Given the description of an element on the screen output the (x, y) to click on. 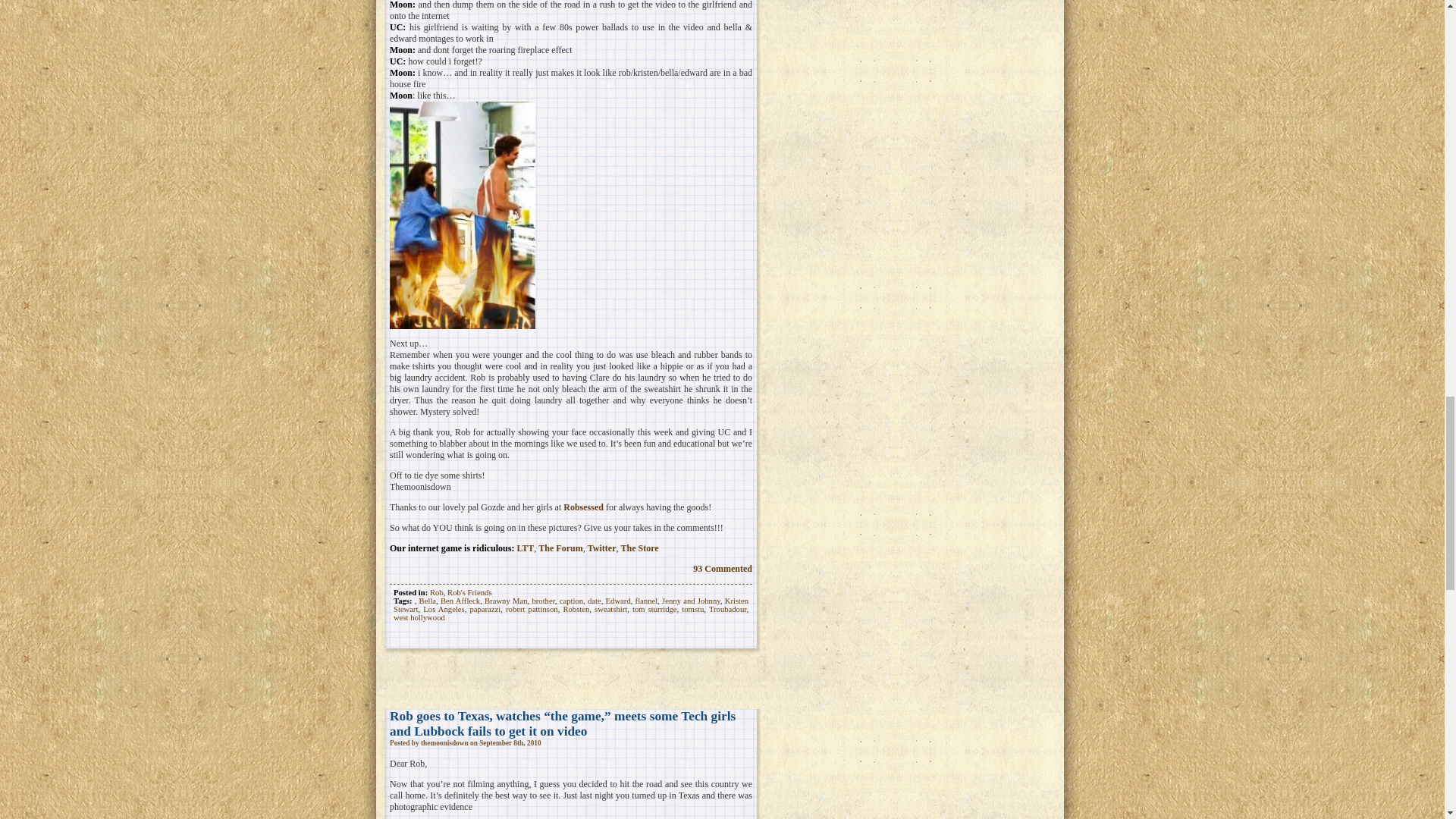
The Forum (560, 547)
LTT (525, 547)
Rob's Friends (469, 592)
93 Commented (722, 568)
Twitter (601, 547)
Robsessed (583, 507)
brother (542, 601)
caption (571, 601)
Rob (436, 592)
Ben Affleck (460, 601)
Bella (427, 601)
The Store (639, 547)
date (594, 601)
Brawny Man (505, 601)
Edward (617, 601)
